Given the description of an element on the screen output the (x, y) to click on. 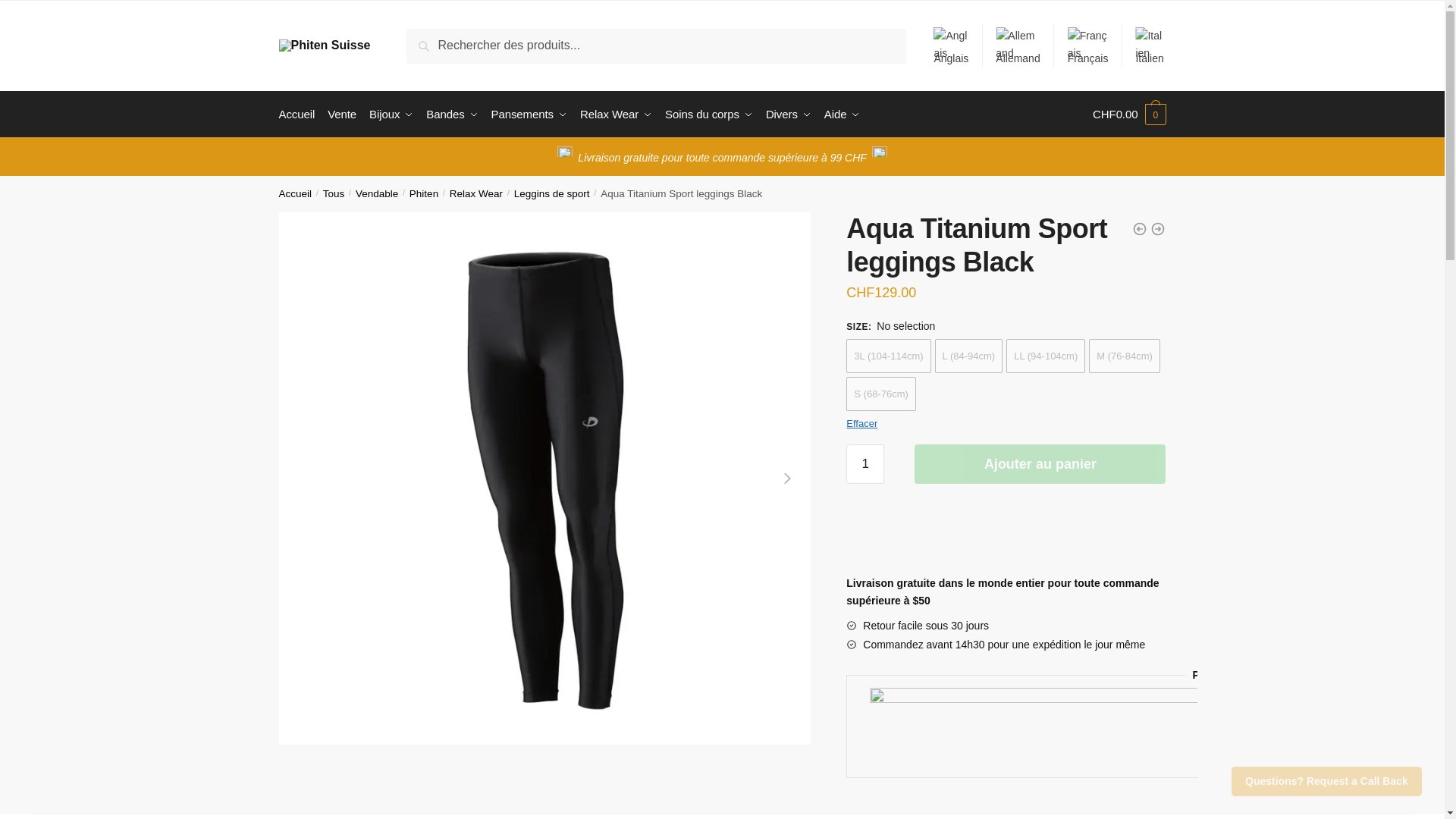
Accueil (300, 114)
Italien (1149, 45)
Bandes (452, 114)
Recherche (440, 38)
Bijoux (391, 114)
Relax Wear (616, 114)
Voir votre panier d'achat (1129, 114)
Anglais (950, 45)
1 (864, 464)
Vente (341, 114)
Pansements (528, 114)
Allemand (1018, 45)
